Given the description of an element on the screen output the (x, y) to click on. 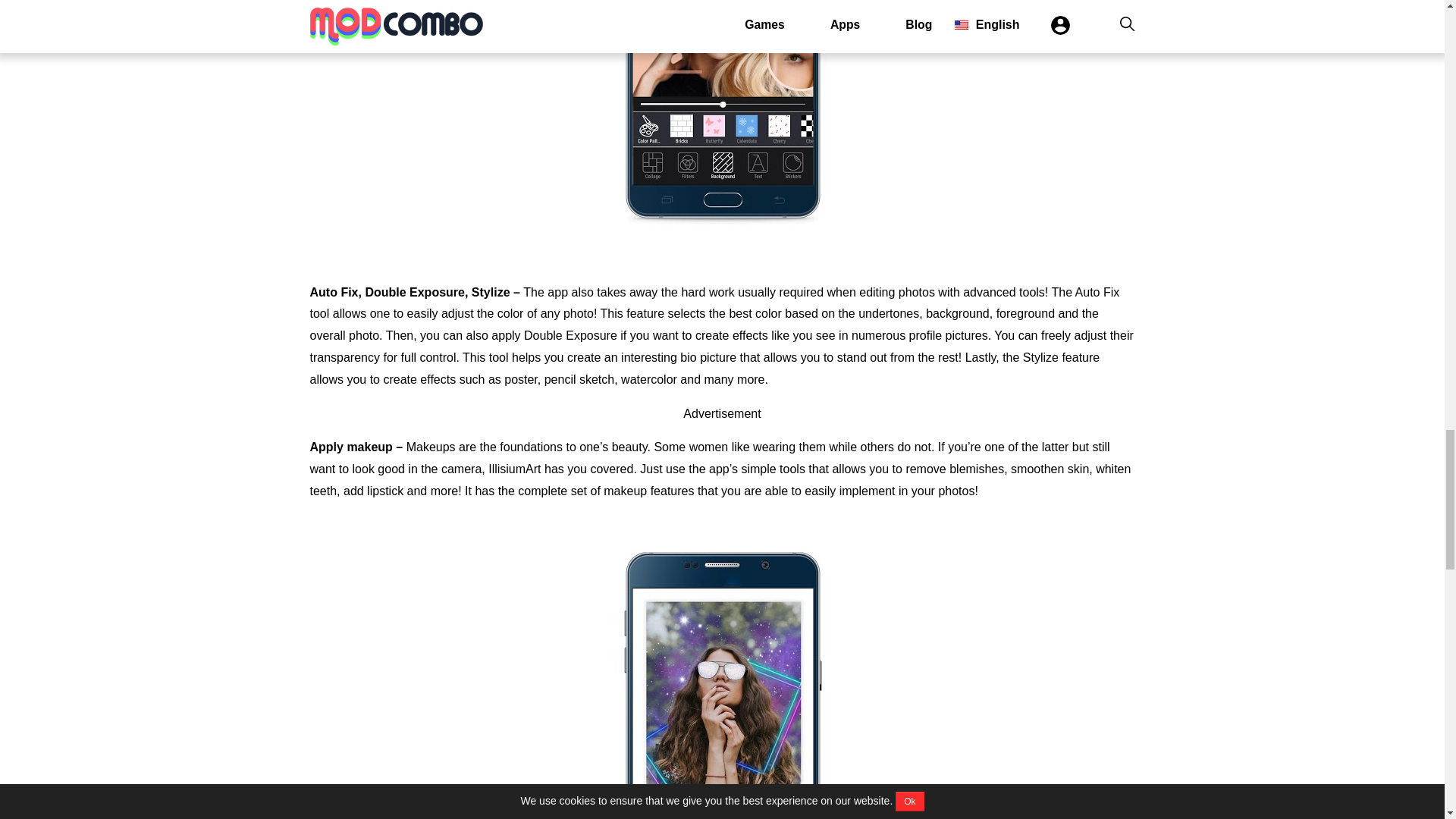
download illisiumart apk for android (722, 667)
illisiumart apk free download (722, 131)
